Given the description of an element on the screen output the (x, y) to click on. 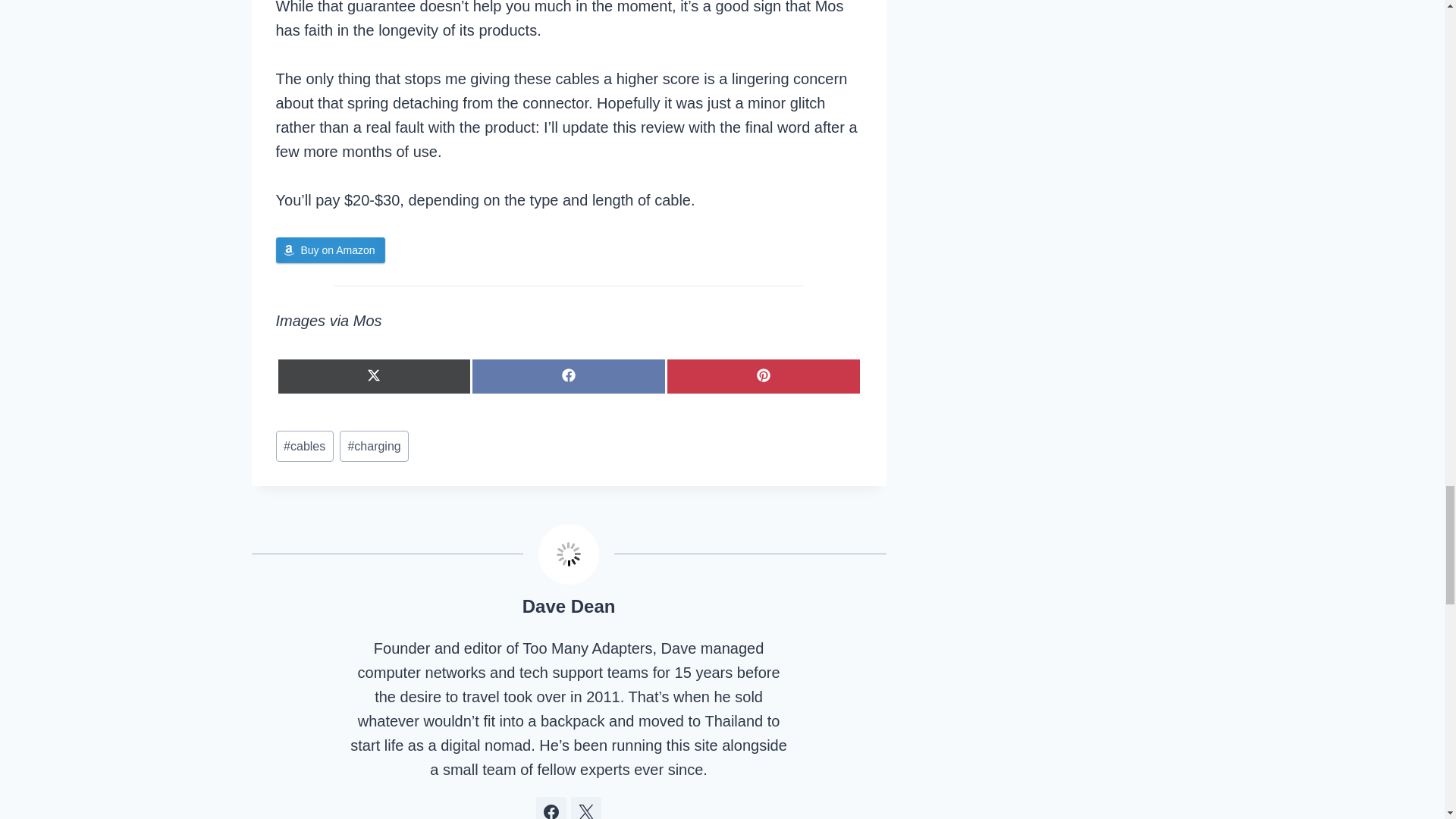
Share on Pinterest (763, 376)
cables (304, 445)
Share on Facebook (568, 376)
Buy on Amazon (330, 249)
Posts by Dave Dean (568, 606)
Follow Dave Dean on Facebook (550, 807)
Follow Dave Dean on X formerly Twitter (585, 807)
Buy on Amazon (330, 249)
charging (374, 445)
Dave Dean (568, 606)
